Given the description of an element on the screen output the (x, y) to click on. 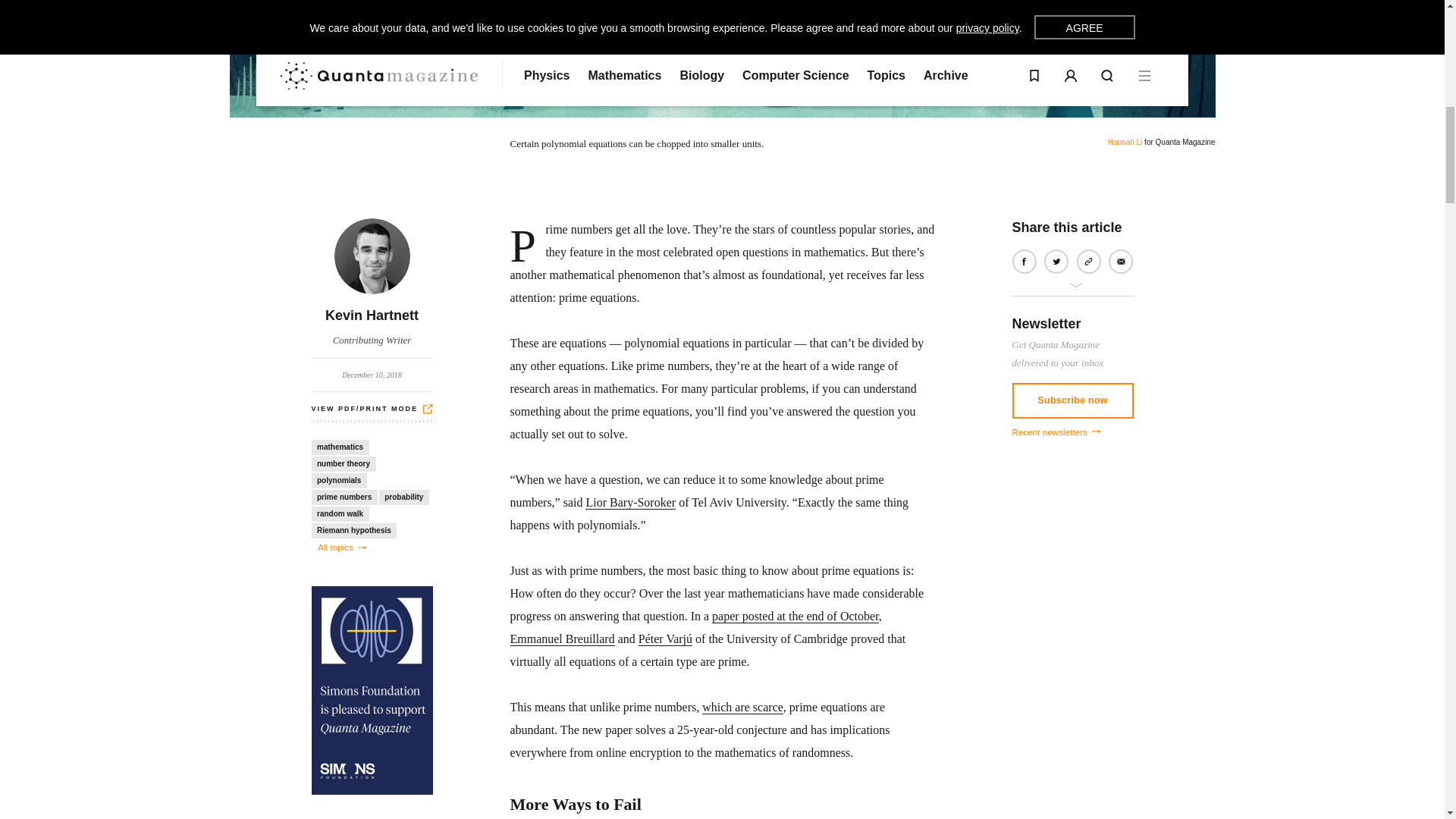
random walk (339, 513)
prime numbers (344, 497)
mathematics (339, 447)
polynomials (338, 480)
probability (371, 283)
Hannah Li (403, 497)
number theory (1125, 142)
